Given the description of an element on the screen output the (x, y) to click on. 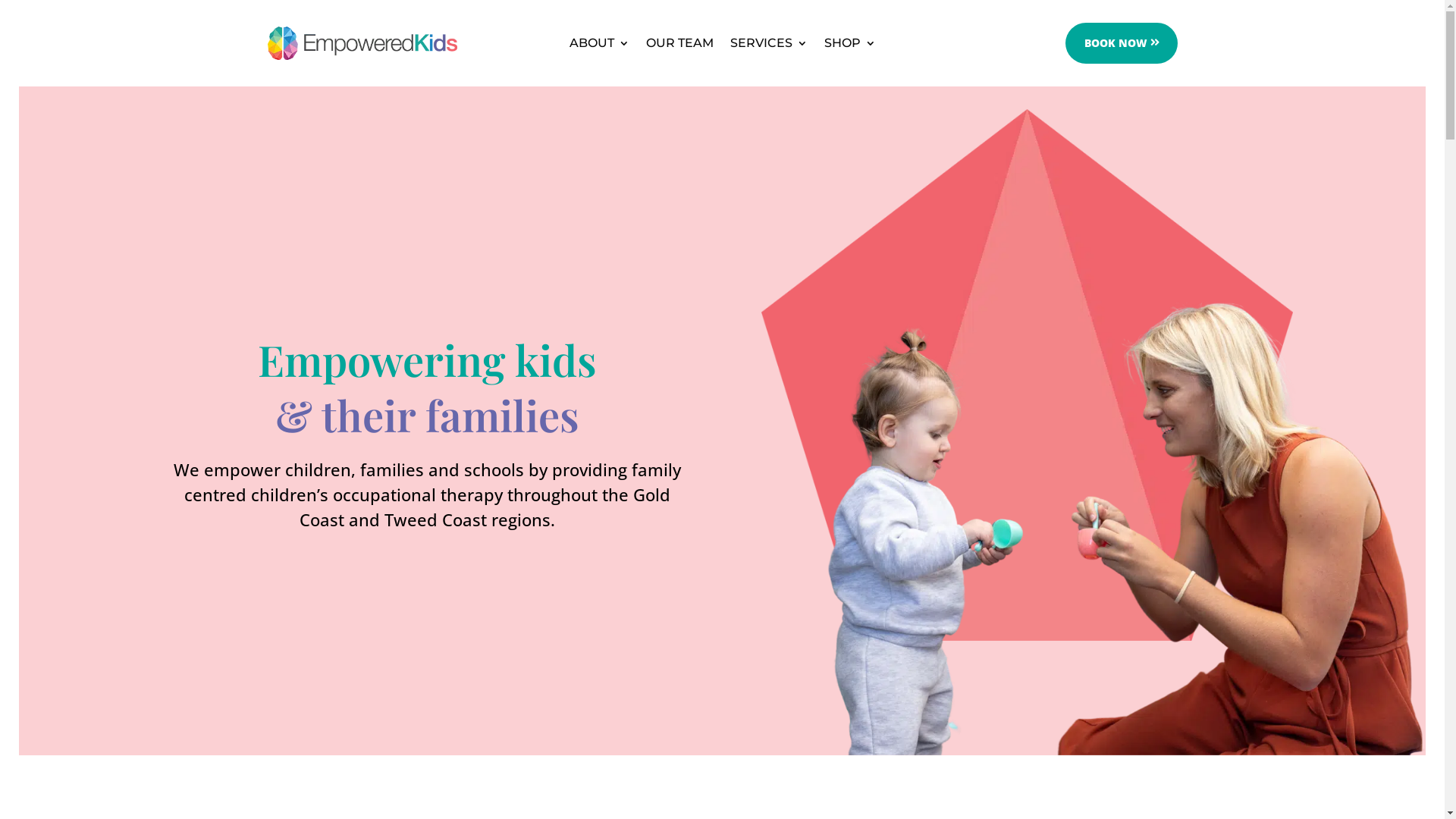
BOOK NOW Element type: text (1120, 42)
OUR TEAM Element type: text (679, 45)
playing Element type: hover (1126, 527)
SHOP Element type: text (849, 45)
EK_RGB_Horiz_400 Element type: hover (361, 42)
hex (1) Element type: hover (1026, 374)
ABOUT Element type: text (598, 45)
SERVICES Element type: text (767, 45)
